Given the description of an element on the screen output the (x, y) to click on. 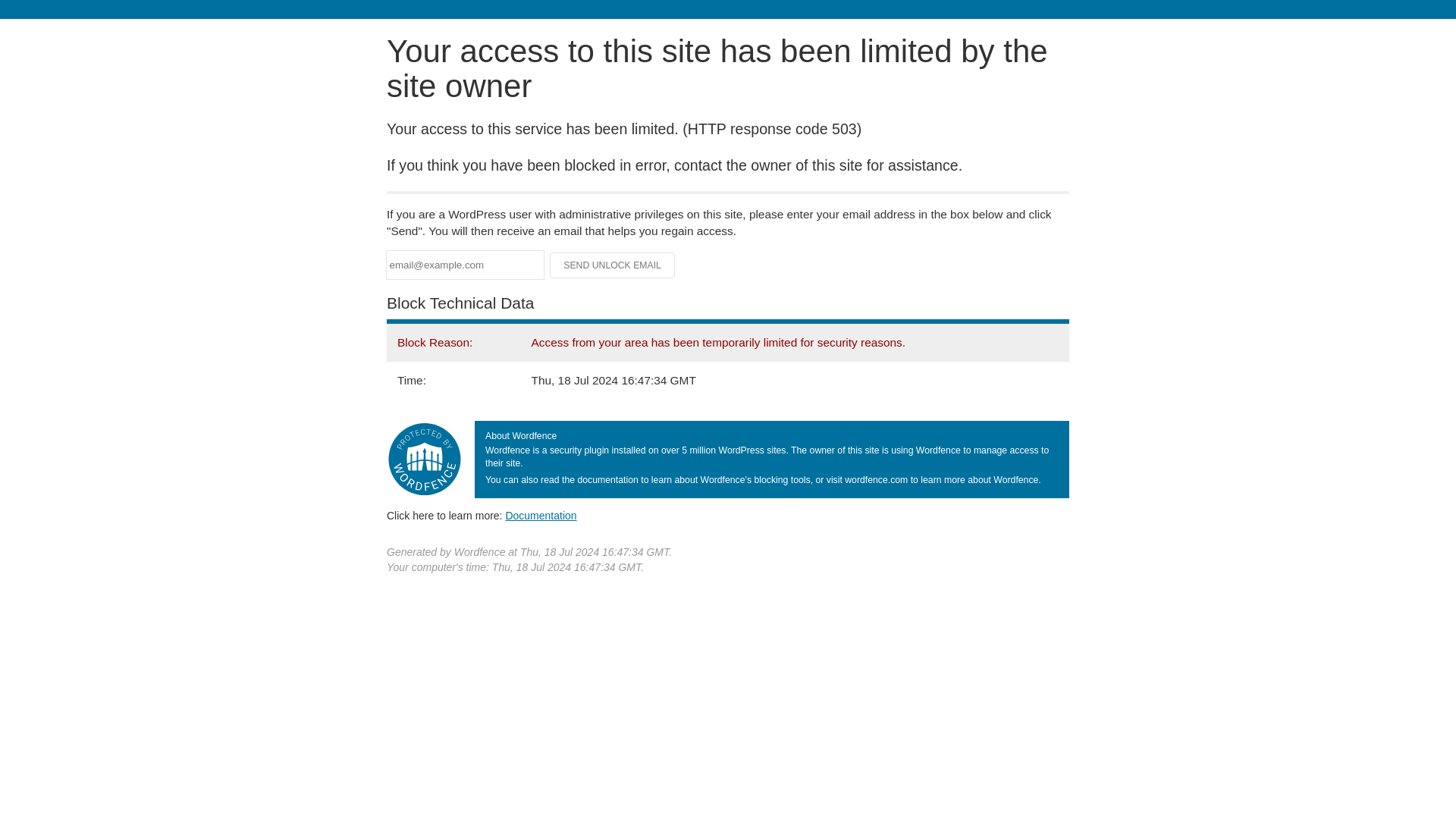
Send Unlock Email (612, 265)
Send Unlock Email (612, 265)
Documentation (540, 515)
